Given the description of an element on the screen output the (x, y) to click on. 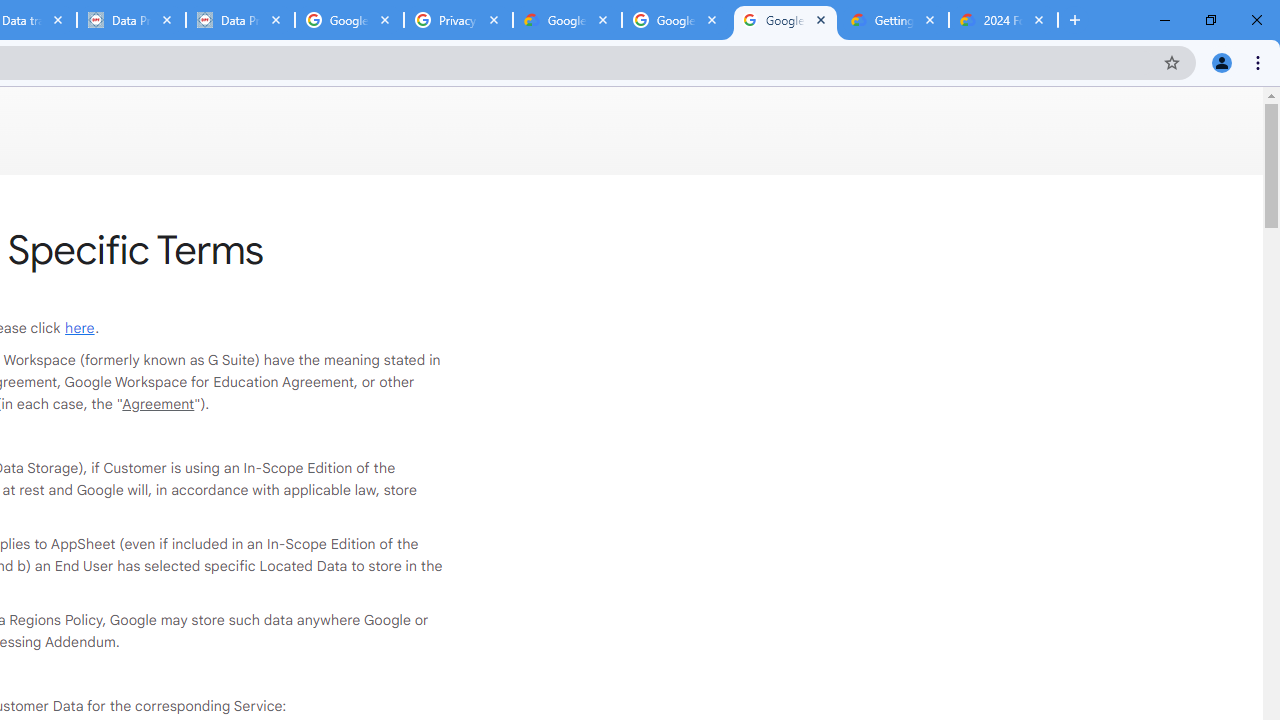
Data Privacy Framework (240, 20)
Google Workspace - Specific Terms (676, 20)
here (79, 327)
Google Workspace - Specific Terms (784, 20)
Data Privacy Framework (130, 20)
